Given the description of an element on the screen output the (x, y) to click on. 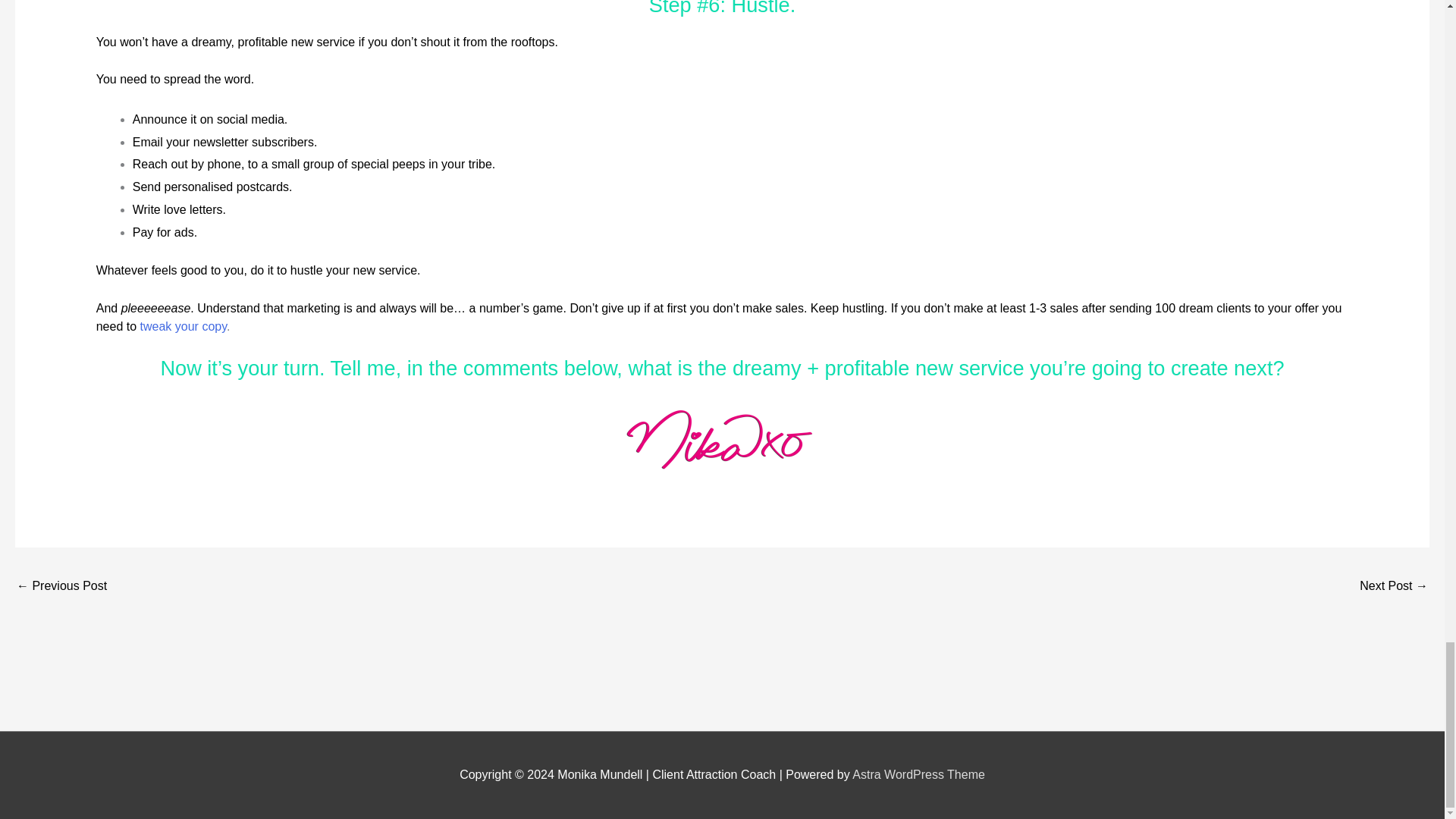
Astra WordPress Theme (918, 774)
How to Write a Seductive Work With Me Page (61, 587)
tweak your copy (183, 326)
3 Email Scripts to Get the Attention of an Online Star (1393, 587)
